Given the description of an element on the screen output the (x, y) to click on. 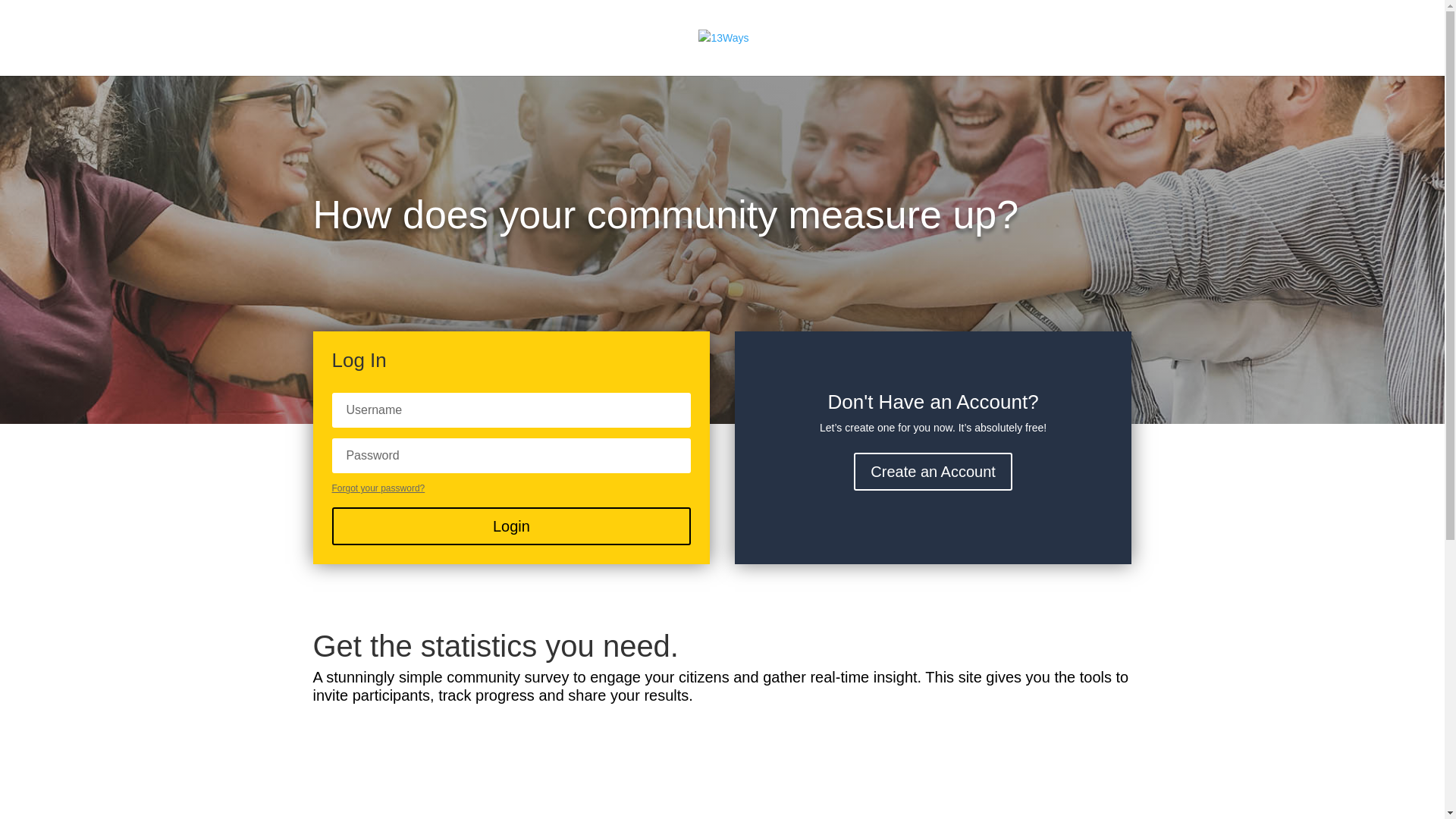
Login (511, 525)
Forgot your password? (378, 488)
Create an Account (932, 471)
